Given the description of an element on the screen output the (x, y) to click on. 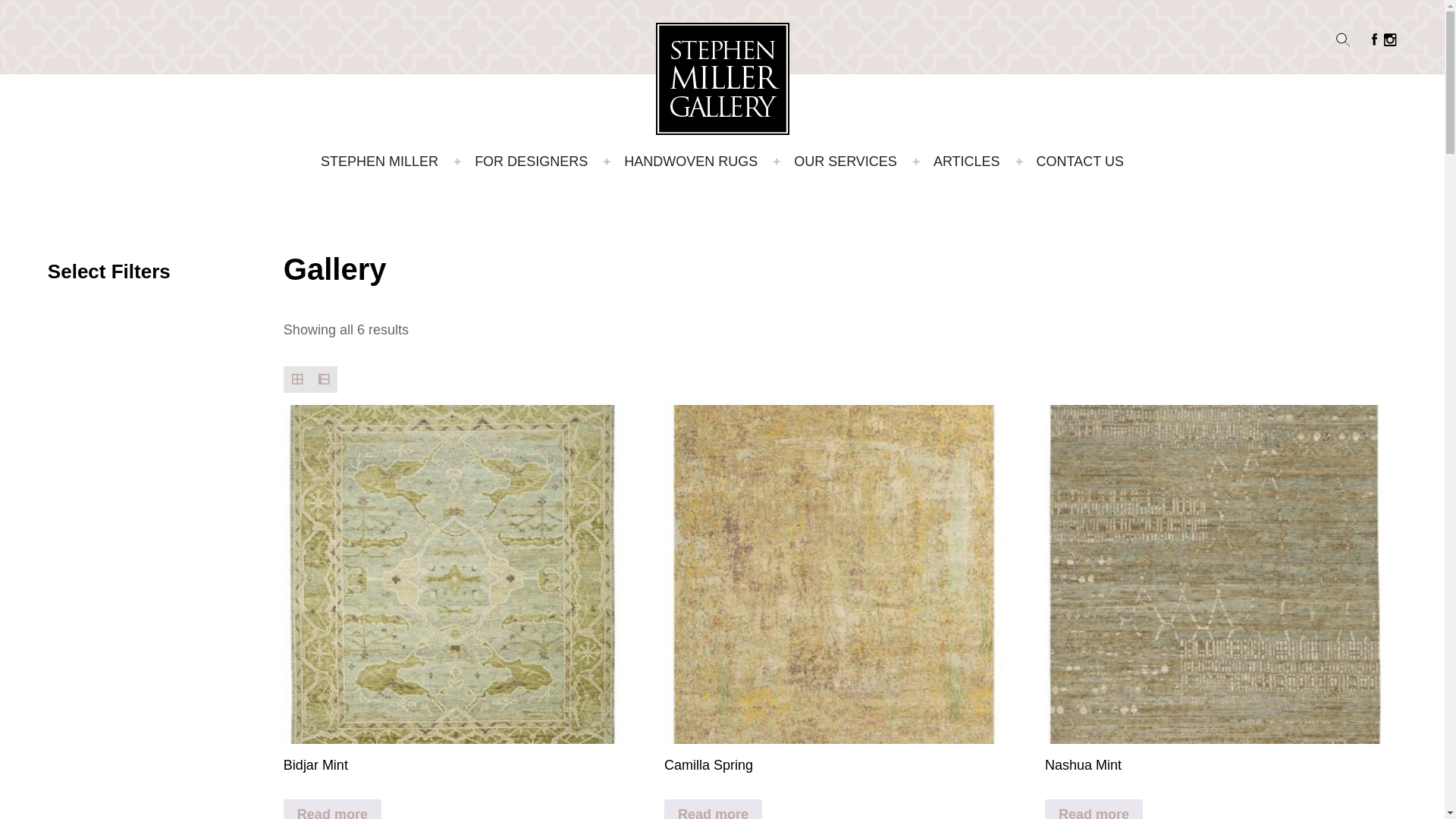
Bidjar Mint (453, 588)
OUR SERVICES (844, 161)
STEPHEN MILLER (379, 161)
FOR DESIGNERS (531, 161)
Read more (712, 809)
HANDWOVEN RUGS (690, 161)
Grid view (297, 379)
CONTACT US (1080, 161)
ARTICLES (966, 161)
Read more (332, 809)
Read more (1093, 809)
Camilla Spring (833, 588)
Nashua Mint (1214, 588)
List view (324, 379)
